Given the description of an element on the screen output the (x, y) to click on. 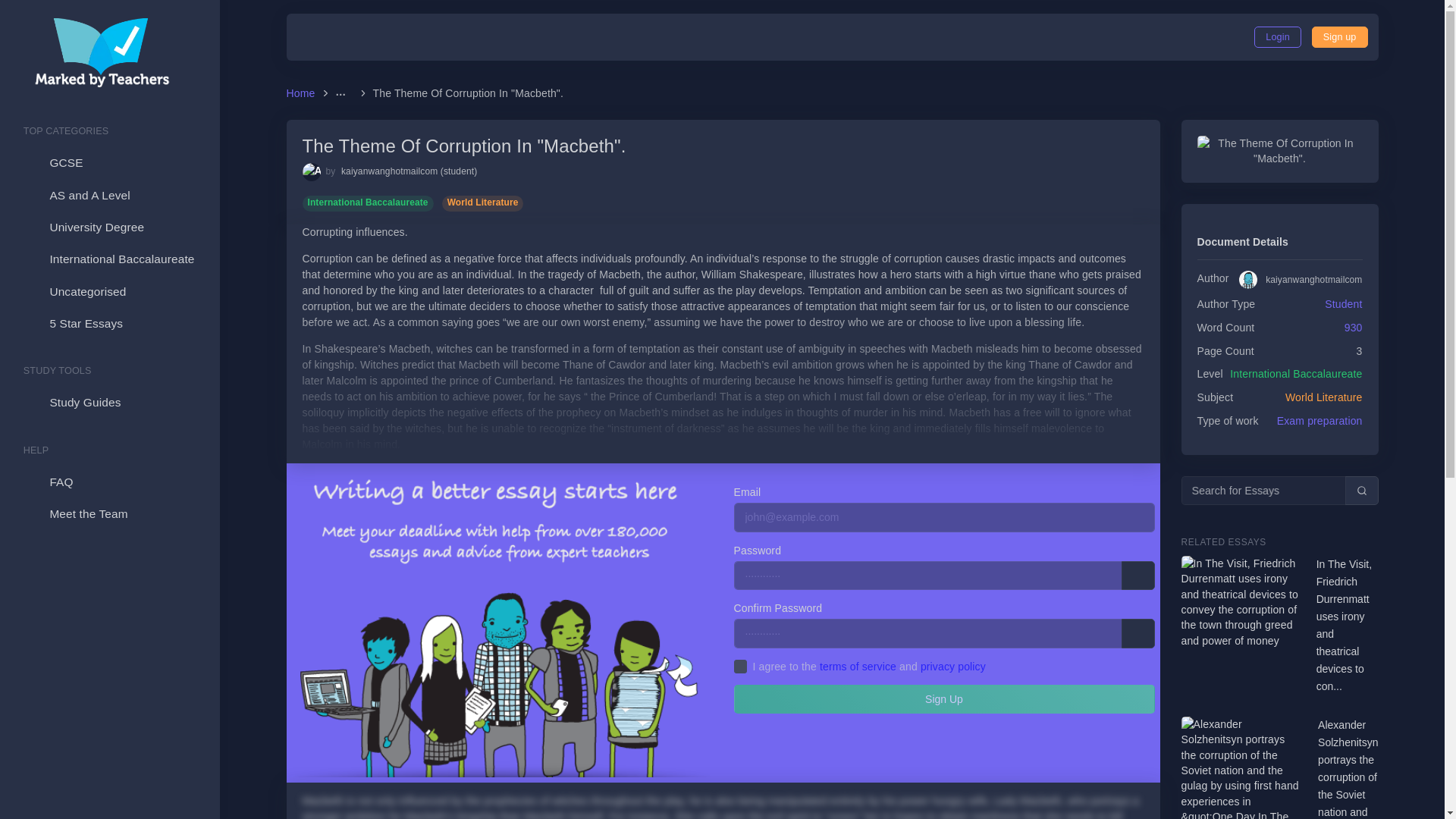
Login (1277, 36)
International Baccalaureate (1295, 373)
GCSE (109, 163)
Meet the Team (109, 513)
5 Star Essays (109, 323)
University Degree (109, 227)
5 Star Essays (109, 323)
Uncategorised (109, 291)
Sign Up (1339, 36)
AS and A Level (109, 195)
